Given the description of an element on the screen output the (x, y) to click on. 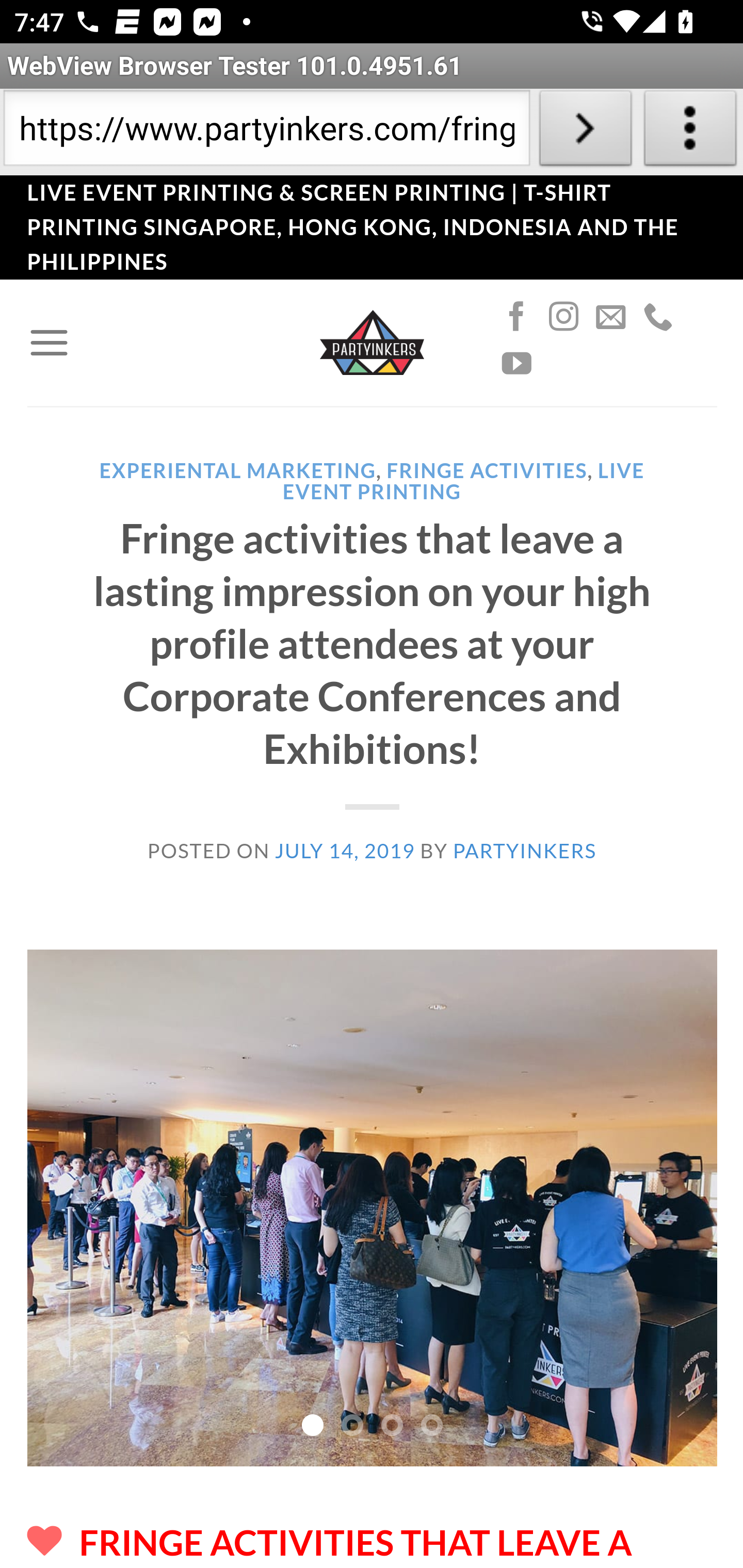
Load URL (585, 132)
About WebView (690, 132)
partyinkers (371, 341)
Menu  (48, 342)
 (516, 317)
 (562, 317)
 (610, 317)
 (657, 317)
 (516, 364)
EXPERIENTAL MARKETING (237, 470)
LIVE EVENT PRINTING (463, 480)
FRINGE ACTIVITIES (487, 470)
JULY 14, 2019 (345, 849)
PARTYINKERS (524, 849)
